Given the description of an element on the screen output the (x, y) to click on. 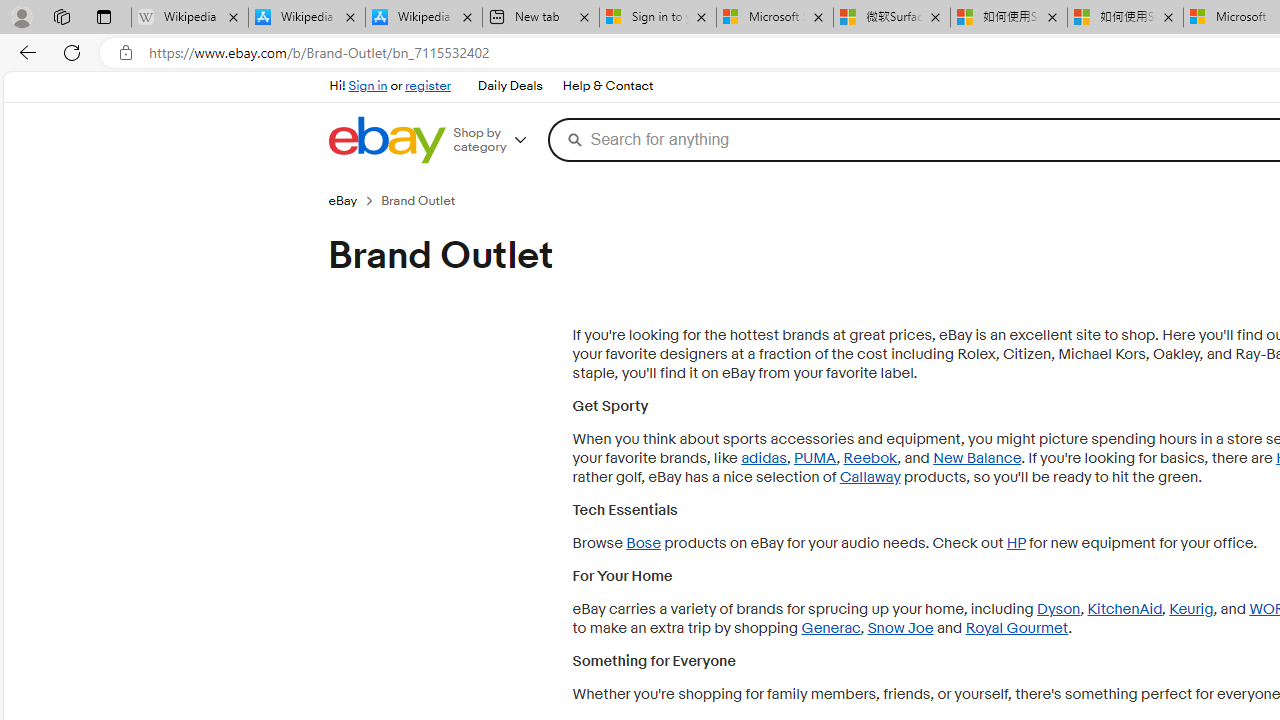
eBay (354, 200)
Help & Contact (607, 86)
Shop by category (496, 140)
Brand Outlet (426, 200)
Generac (831, 628)
Bose (642, 543)
register (427, 85)
Daily Deals (509, 85)
